Given the description of an element on the screen output the (x, y) to click on. 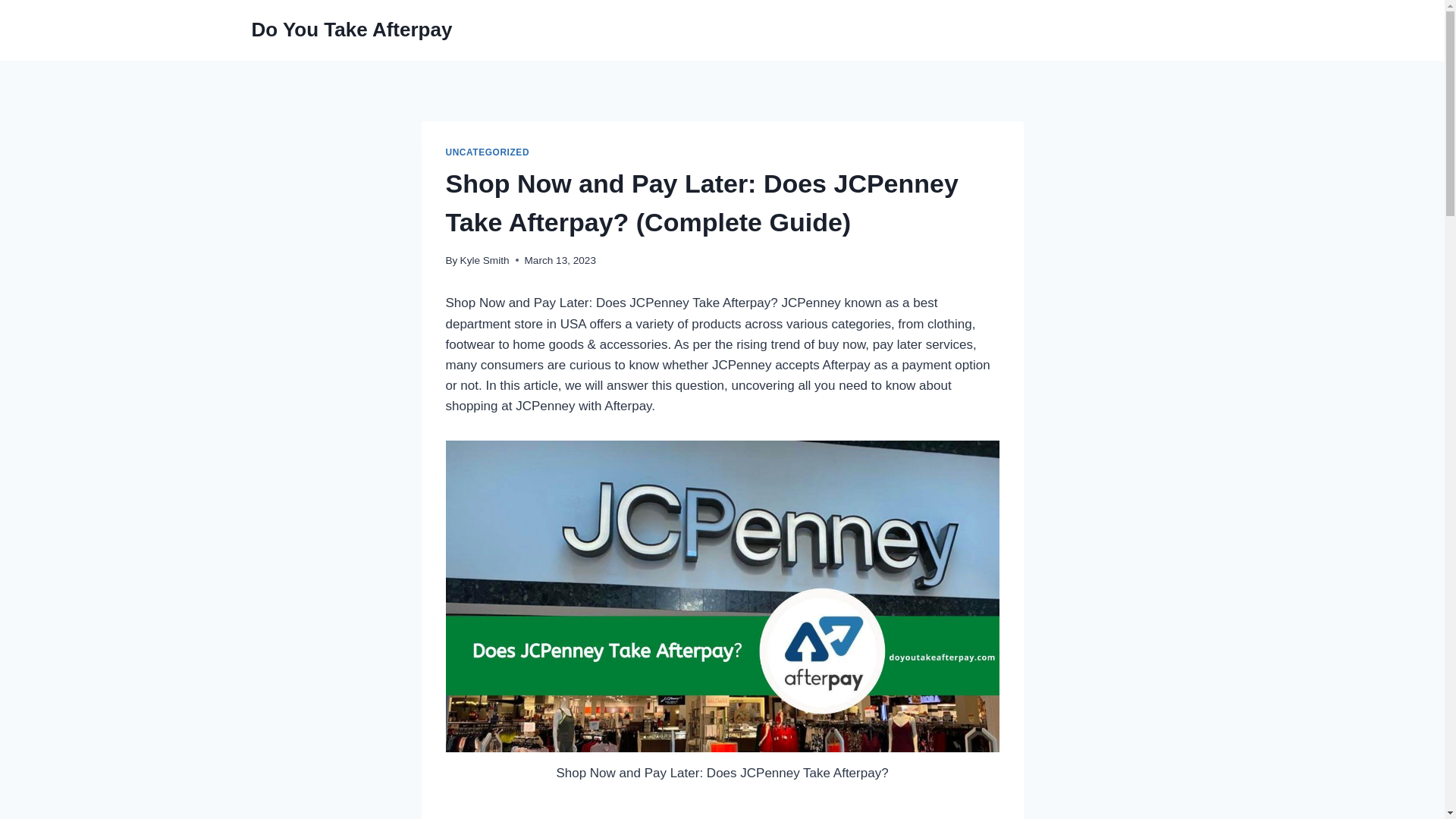
Kyle Smith (484, 260)
UNCATEGORIZED (487, 152)
Do You Take Afterpay (351, 29)
